Given the description of an element on the screen output the (x, y) to click on. 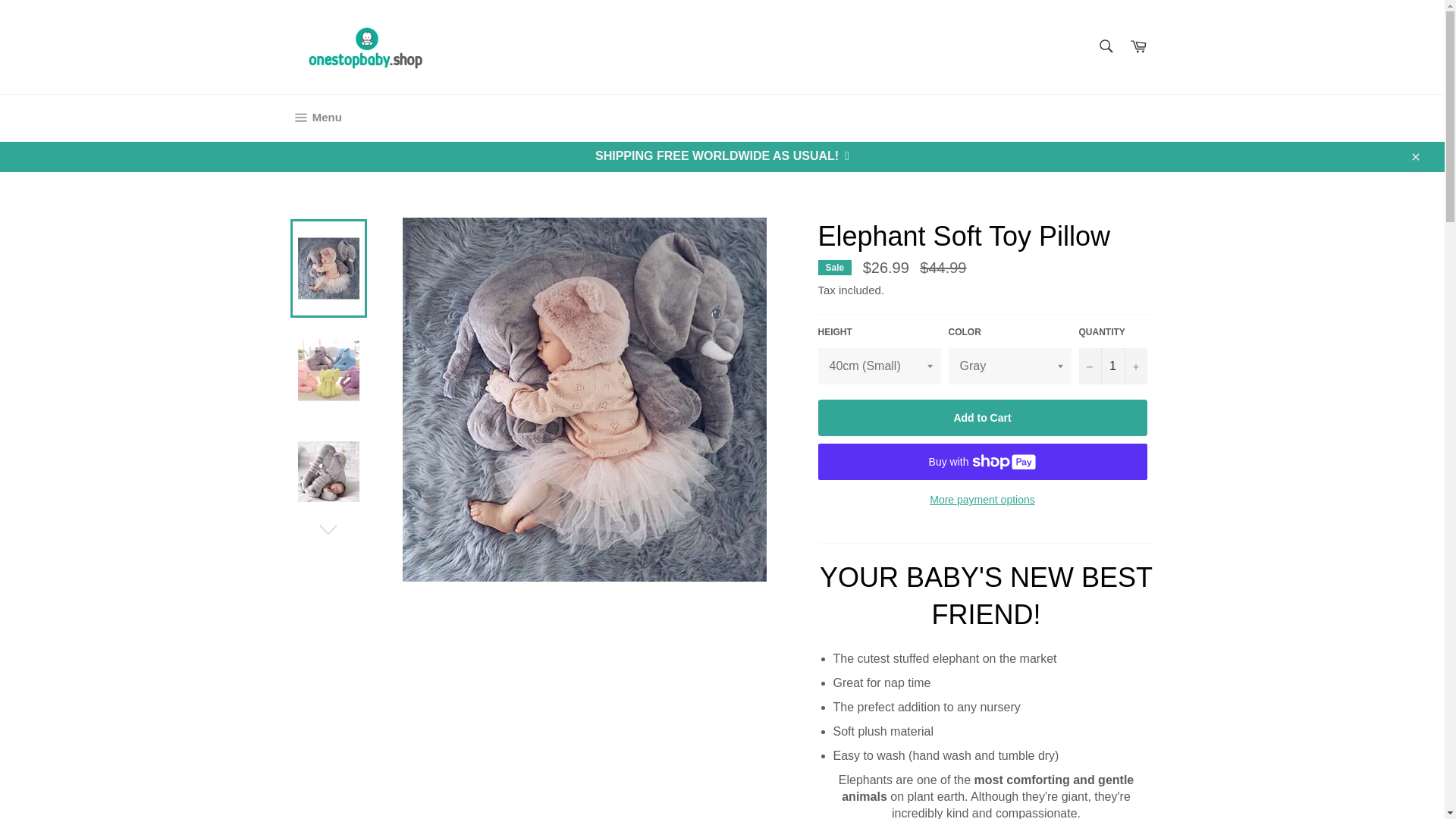
Search (1104, 46)
1 (1112, 366)
Cart (315, 118)
